Given the description of an element on the screen output the (x, y) to click on. 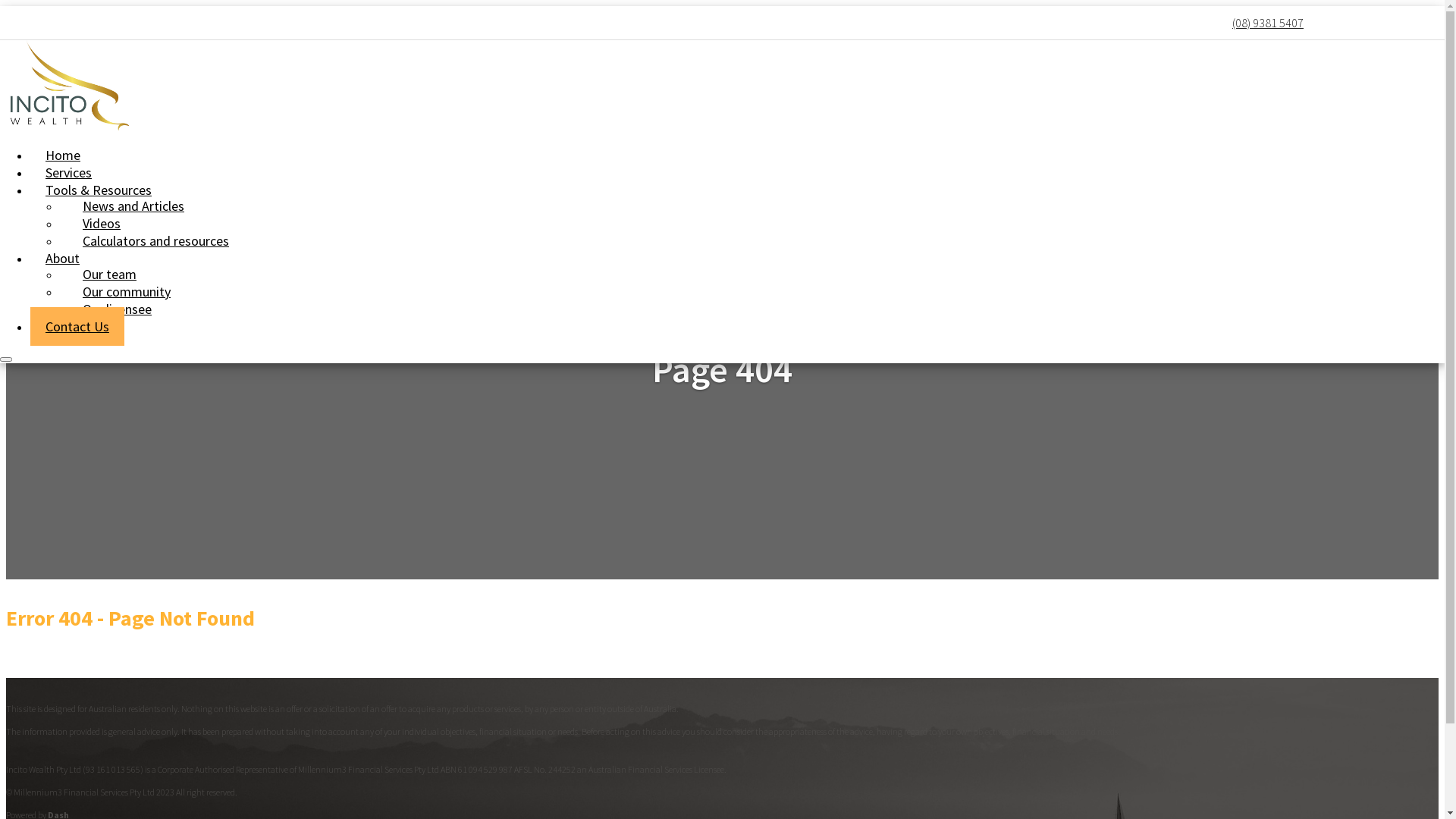
Facebook Element type: hover (1319, 22)
Instagram Element type: hover (1432, 22)
Google Plus Element type: hover (1387, 22)
Services Element type: text (68, 172)
Contact Us Element type: text (77, 326)
Youtube Element type: hover (1410, 22)
LinkedIn Element type: hover (1341, 22)
About Element type: text (62, 257)
Tools & Resources Element type: text (98, 189)
News and Articles Element type: text (133, 205)
(08) 9381 5407 Element type: text (1267, 22)
Our licensee Element type: text (116, 308)
Twitter Element type: hover (1364, 22)
Our community Element type: text (126, 291)
Our team Element type: text (109, 273)
Home Element type: text (62, 154)
Videos Element type: text (101, 223)
Calculators and resources Element type: text (155, 240)
